Given the description of an element on the screen output the (x, y) to click on. 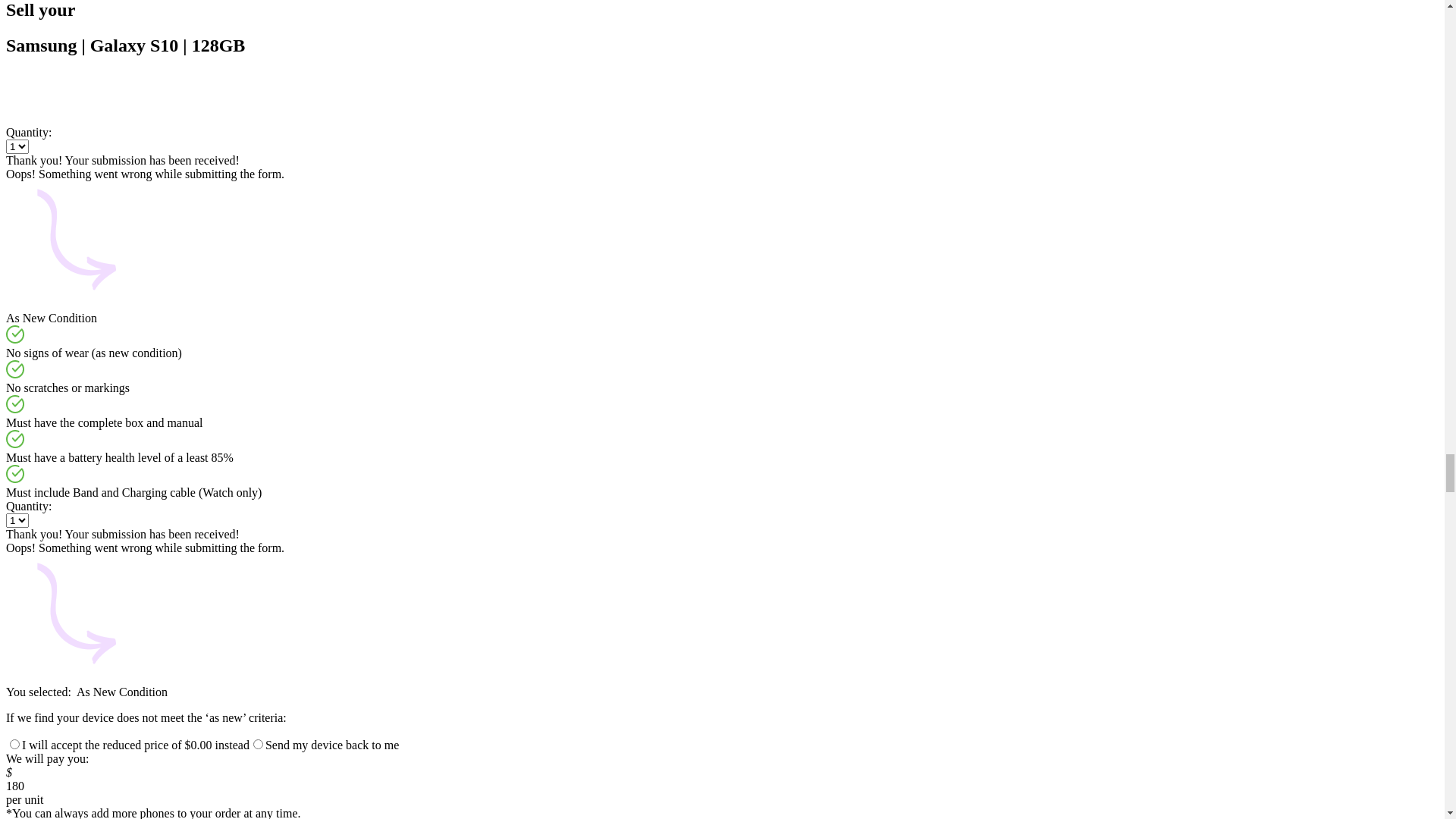
Apply Element type: text (1391, 270)
Sign In Element type: text (547, 793)
Finish Element type: text (54, 725)
Cancel Element type: text (22, 725)
Email me recovery link Element type: text (268, 111)
Dismiss Element type: text (25, 152)
Terms & Conditions Element type: text (206, 655)
Privacy Policy Element type: text (315, 655)
